Given the description of an element on the screen output the (x, y) to click on. 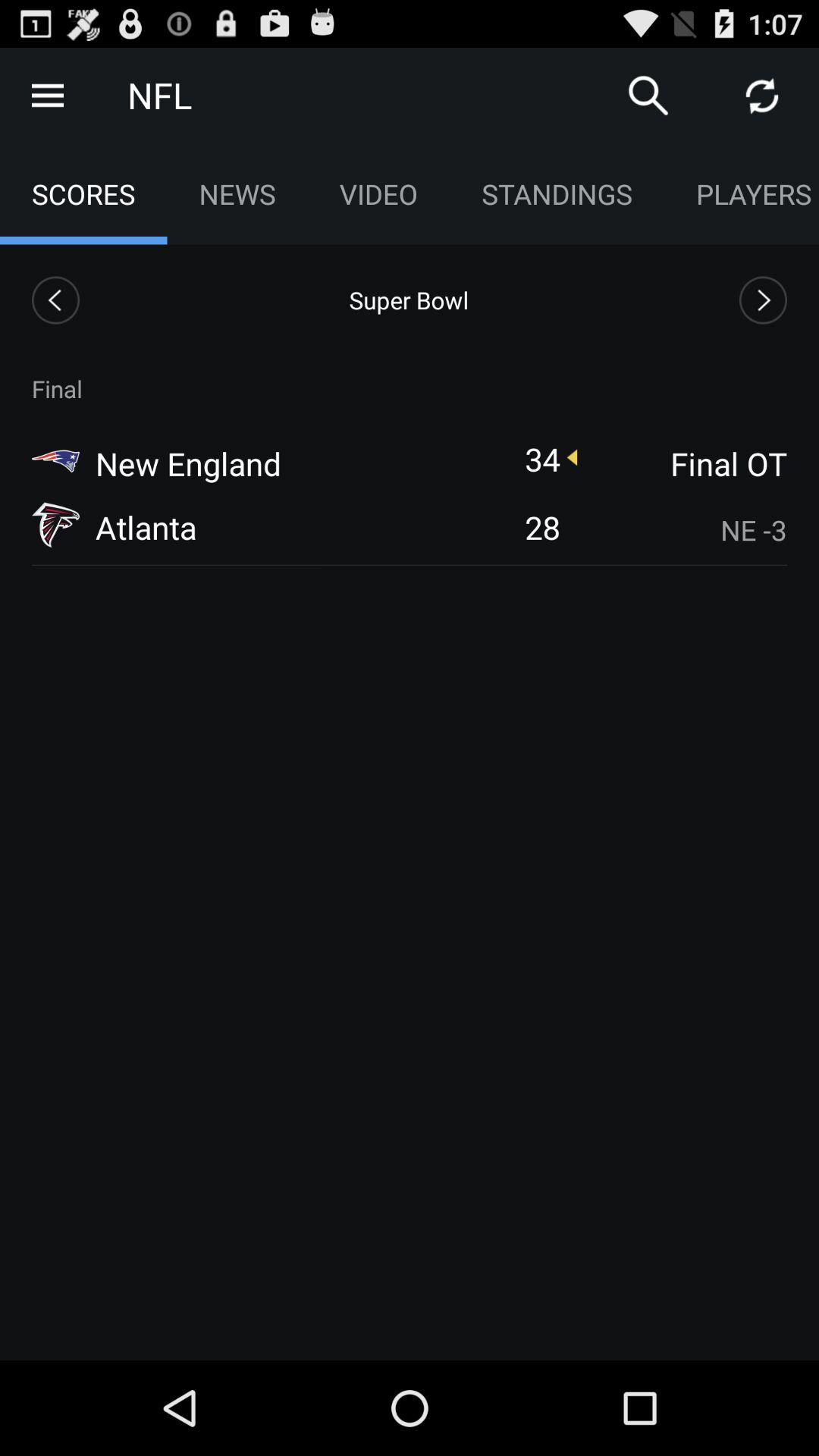
launch icon to the left of 28 icon (145, 526)
